Given the description of an element on the screen output the (x, y) to click on. 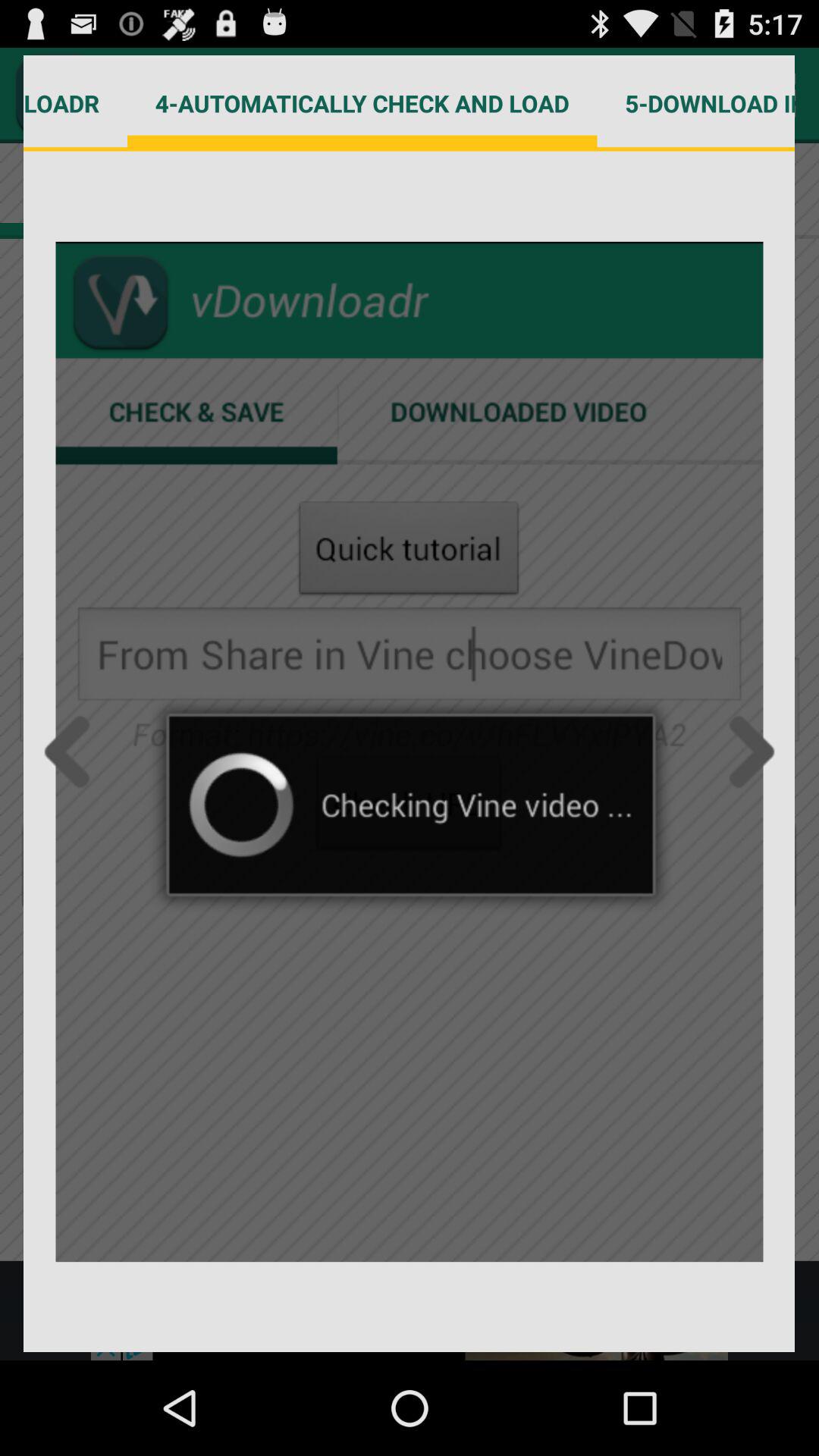
see previous page (71, 751)
